Given the description of an element on the screen output the (x, y) to click on. 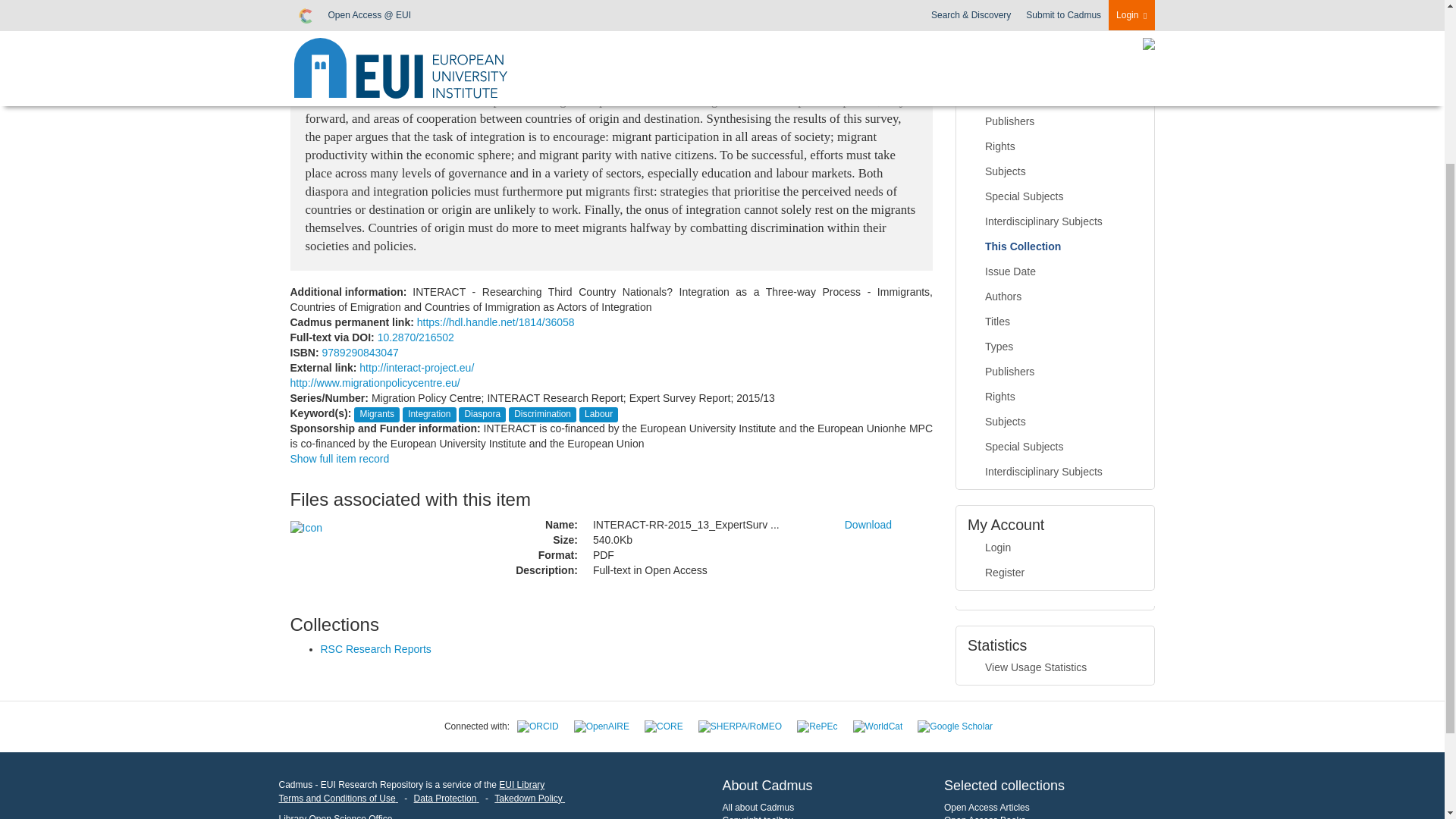
Download (867, 524)
THIBOS, Cameron (343, 4)
Discrimination (541, 413)
Go to Disclaimer (338, 798)
Show full item record (338, 458)
9789290843047 (359, 352)
Labour (598, 413)
Full-text in Open Access (707, 570)
Titles (1055, 71)
Diaspora (482, 413)
Disclaimer and Takedowm Policy (529, 798)
Integration (428, 413)
Authors (1055, 46)
RSC Research Reports (375, 648)
Migrants (376, 413)
